Given the description of an element on the screen output the (x, y) to click on. 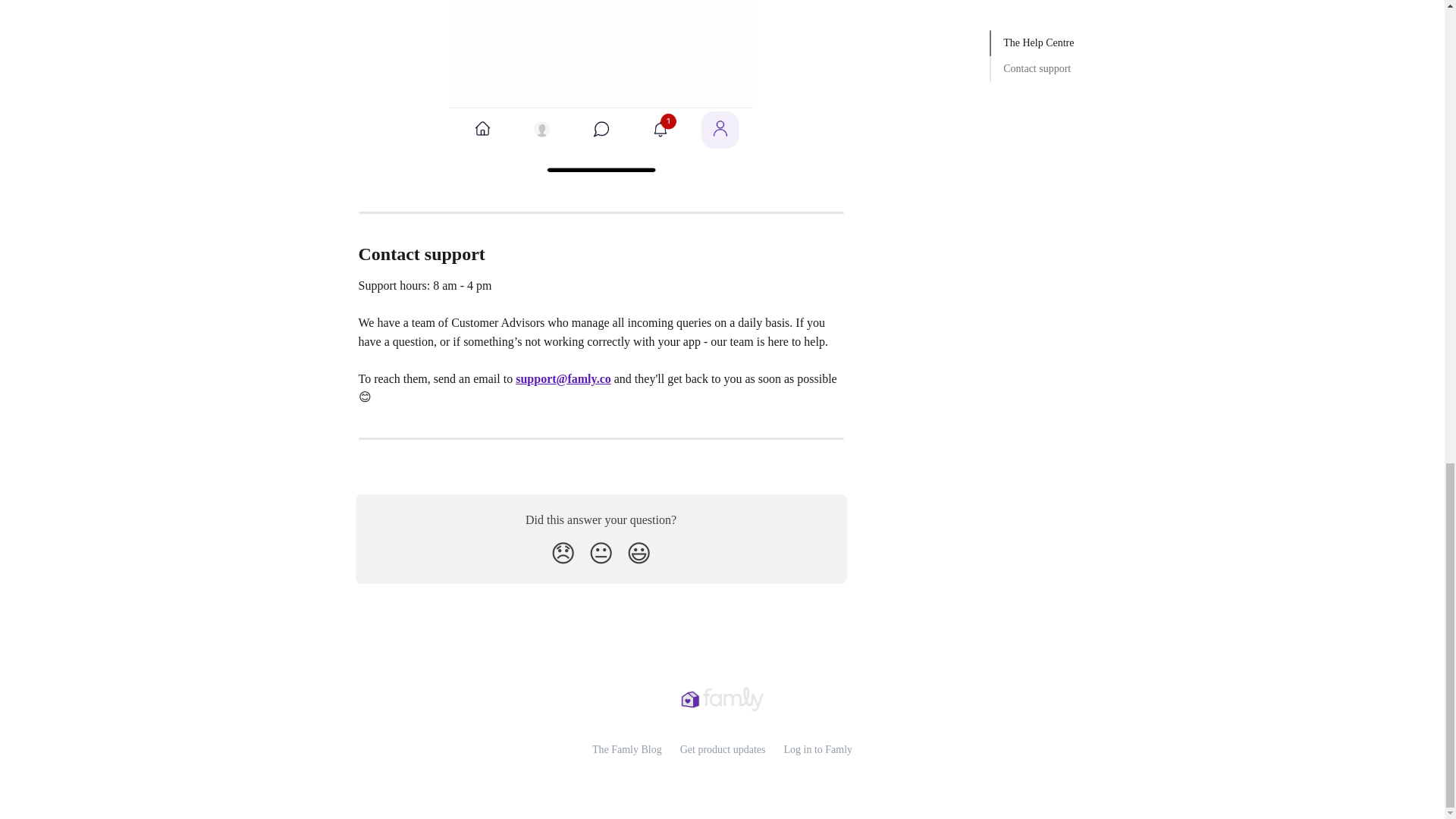
The Famly Blog (627, 749)
Neutral (600, 553)
Disappointed (562, 553)
Get product updates (722, 749)
Smiley (638, 553)
Log in to Famly (817, 749)
